Given the description of an element on the screen output the (x, y) to click on. 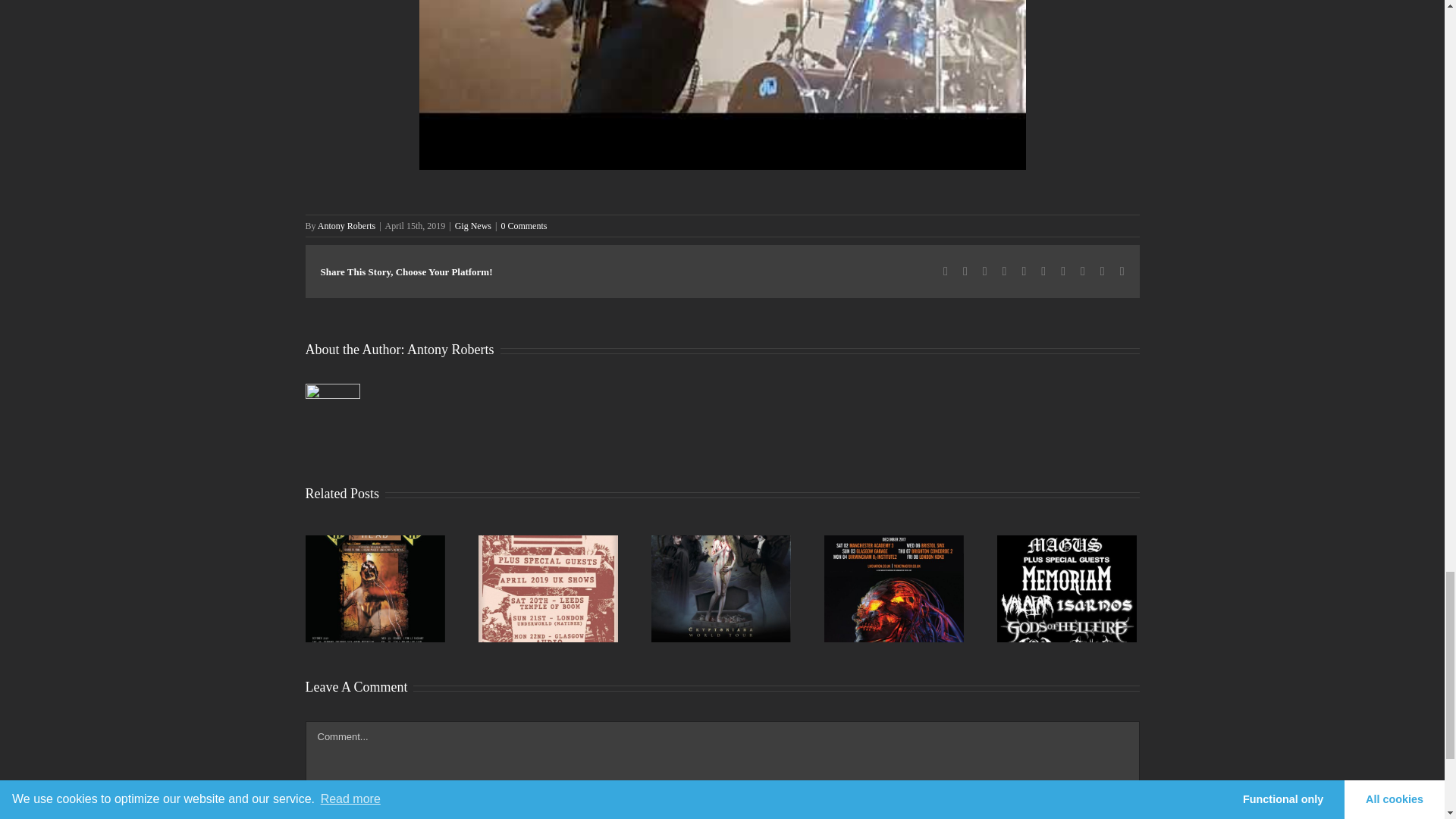
Posts by Antony Roberts (346, 225)
Posts by Antony Roberts (451, 349)
